Given the description of an element on the screen output the (x, y) to click on. 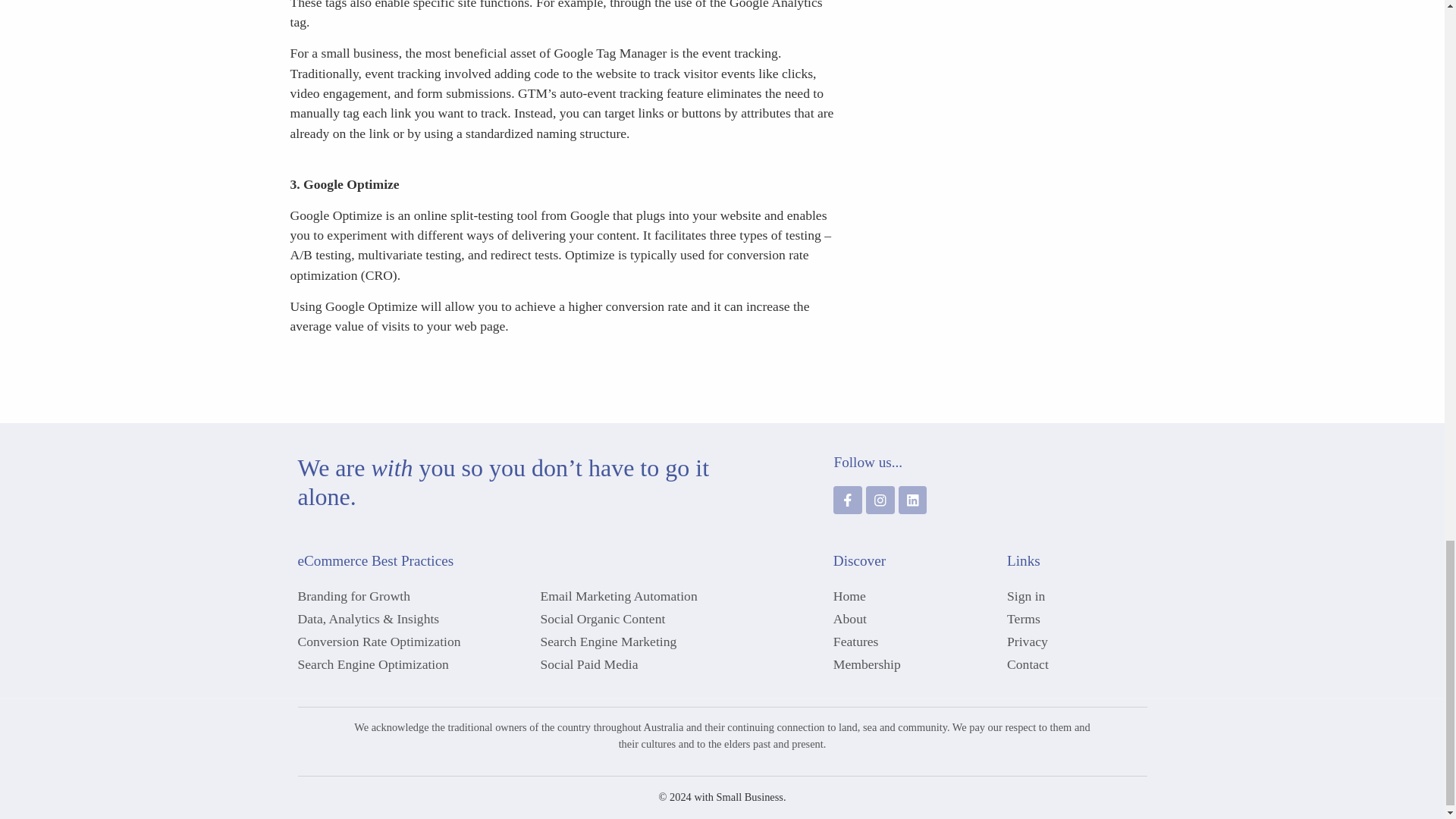
Search Engine Optimization (411, 663)
Conversion Rate Optimization (411, 640)
Branding for Growth (411, 595)
